Given the description of an element on the screen output the (x, y) to click on. 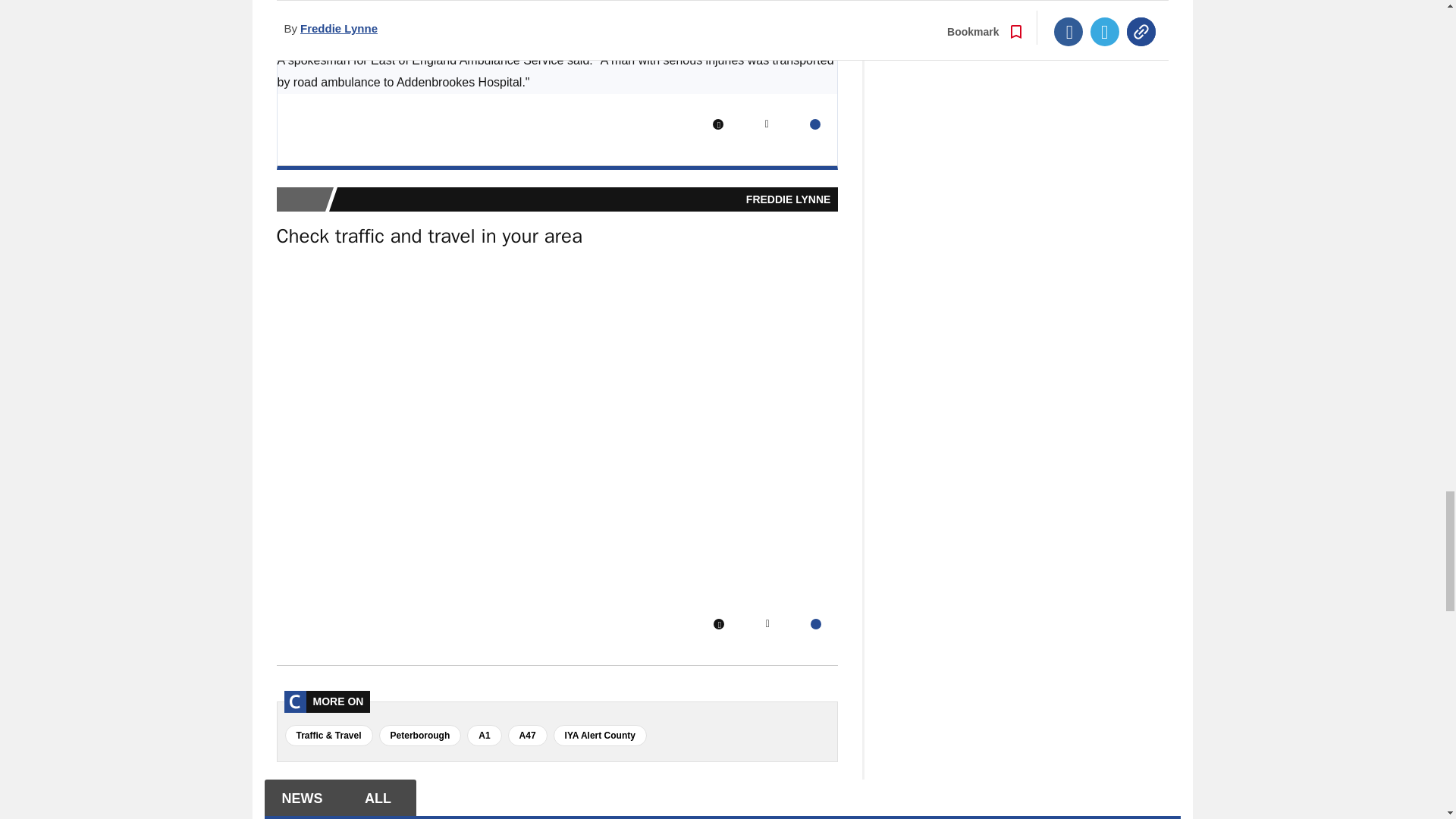
Facebook (718, 123)
